Given the description of an element on the screen output the (x, y) to click on. 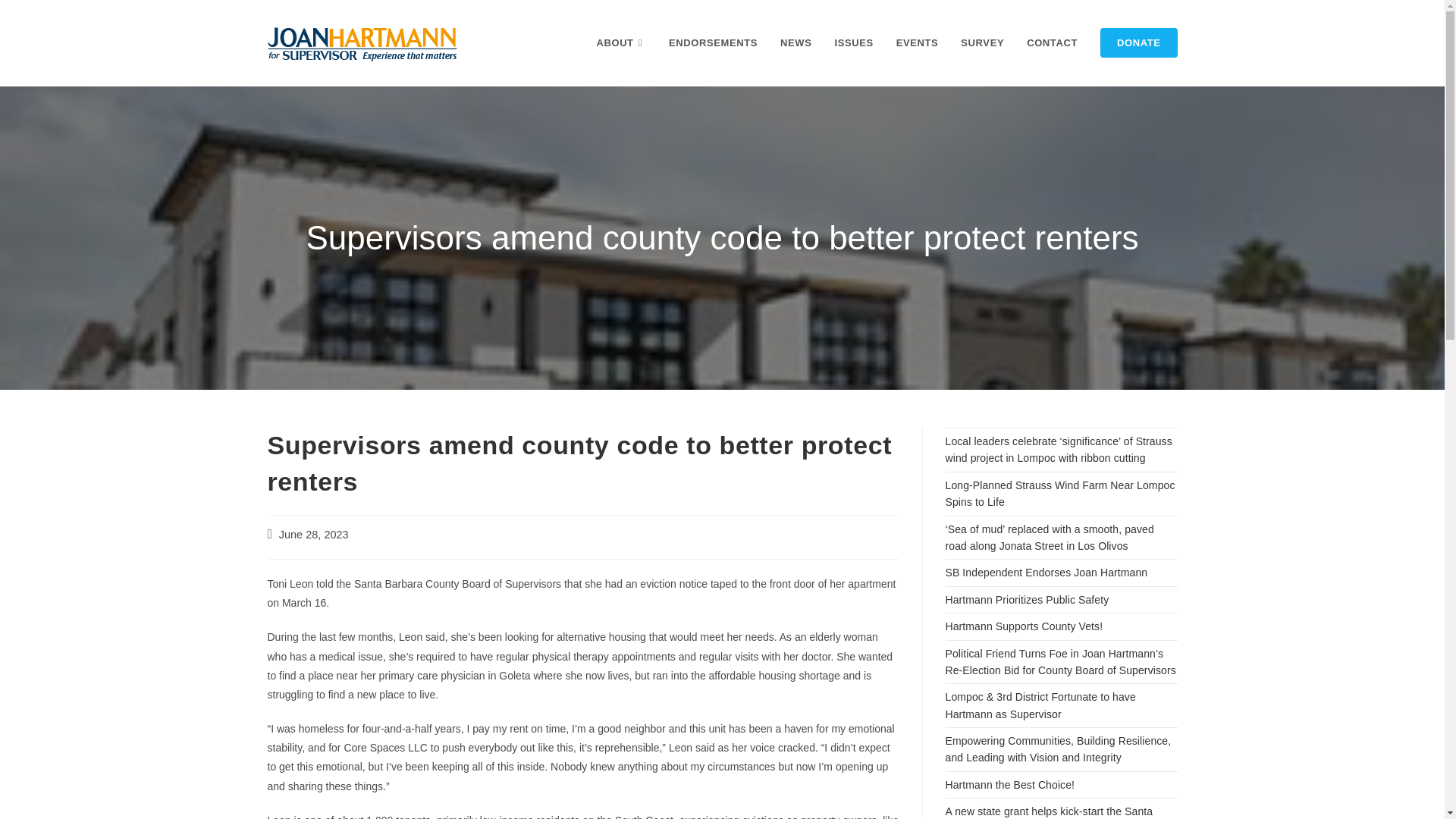
Long-Planned Strauss Wind Farm Near Lompoc Spins to Life (1059, 493)
EVENTS (917, 43)
SURVEY (981, 43)
Hartmann Supports County Vets! (1023, 625)
ISSUES (852, 43)
ABOUT (621, 43)
Hartmann Prioritizes Public Safety (1026, 599)
SB Independent Endorses Joan Hartmann (1045, 572)
ENDORSEMENTS (713, 43)
NEWS (795, 43)
CONTACT (1051, 43)
DONATE (1139, 43)
Hartmann the Best Choice! (1009, 784)
